Given the description of an element on the screen output the (x, y) to click on. 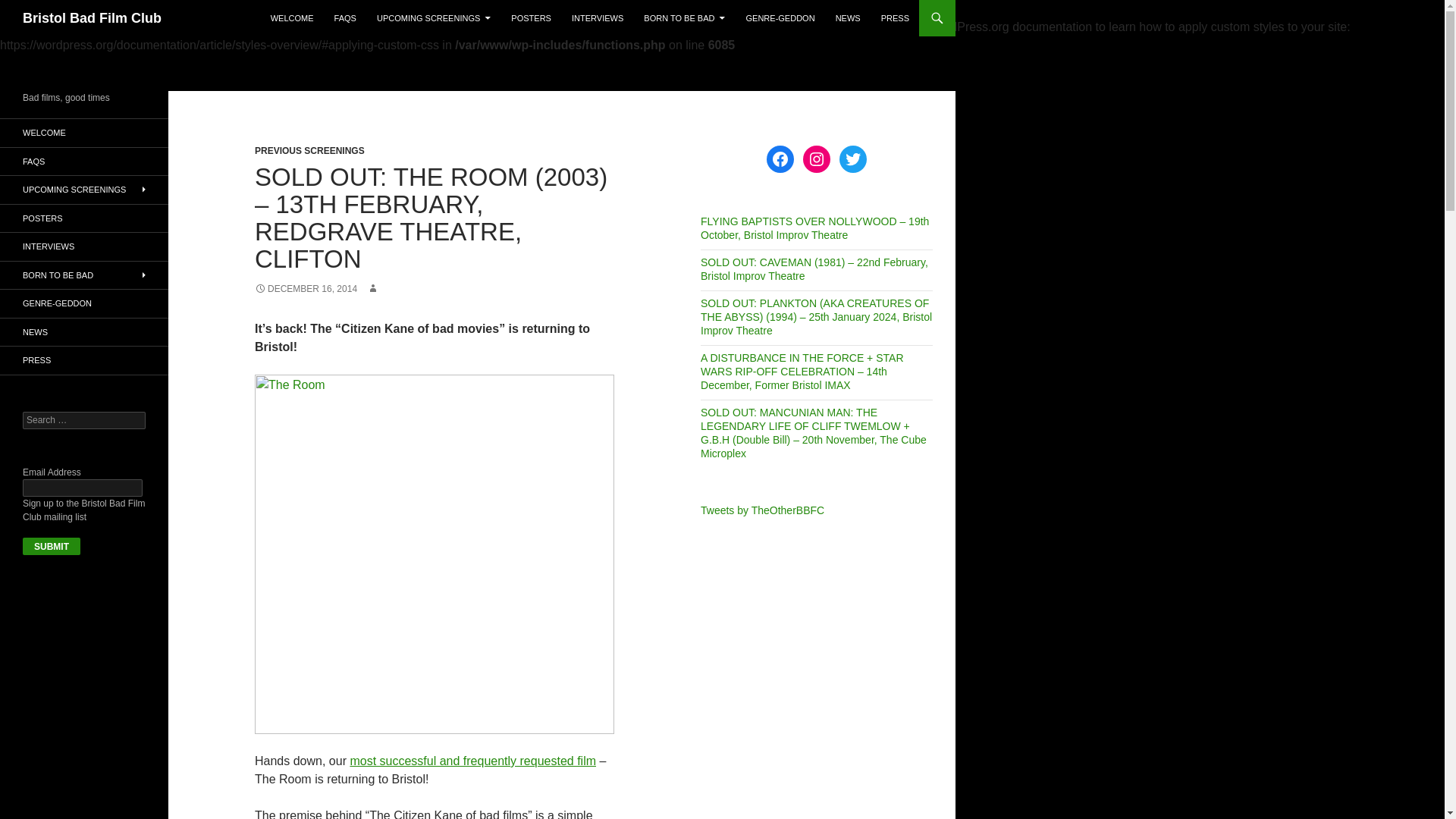
Bristol Bad Film Club (92, 18)
PRESS (895, 18)
INTERVIEWS (596, 18)
NEWS (848, 18)
UPCOMING SCREENINGS (433, 18)
FAQS (344, 18)
WELCOME (292, 18)
DECEMBER 16, 2014 (305, 288)
most successful and frequently requested film (472, 760)
BORN TO BE BAD (683, 18)
